Given the description of an element on the screen output the (x, y) to click on. 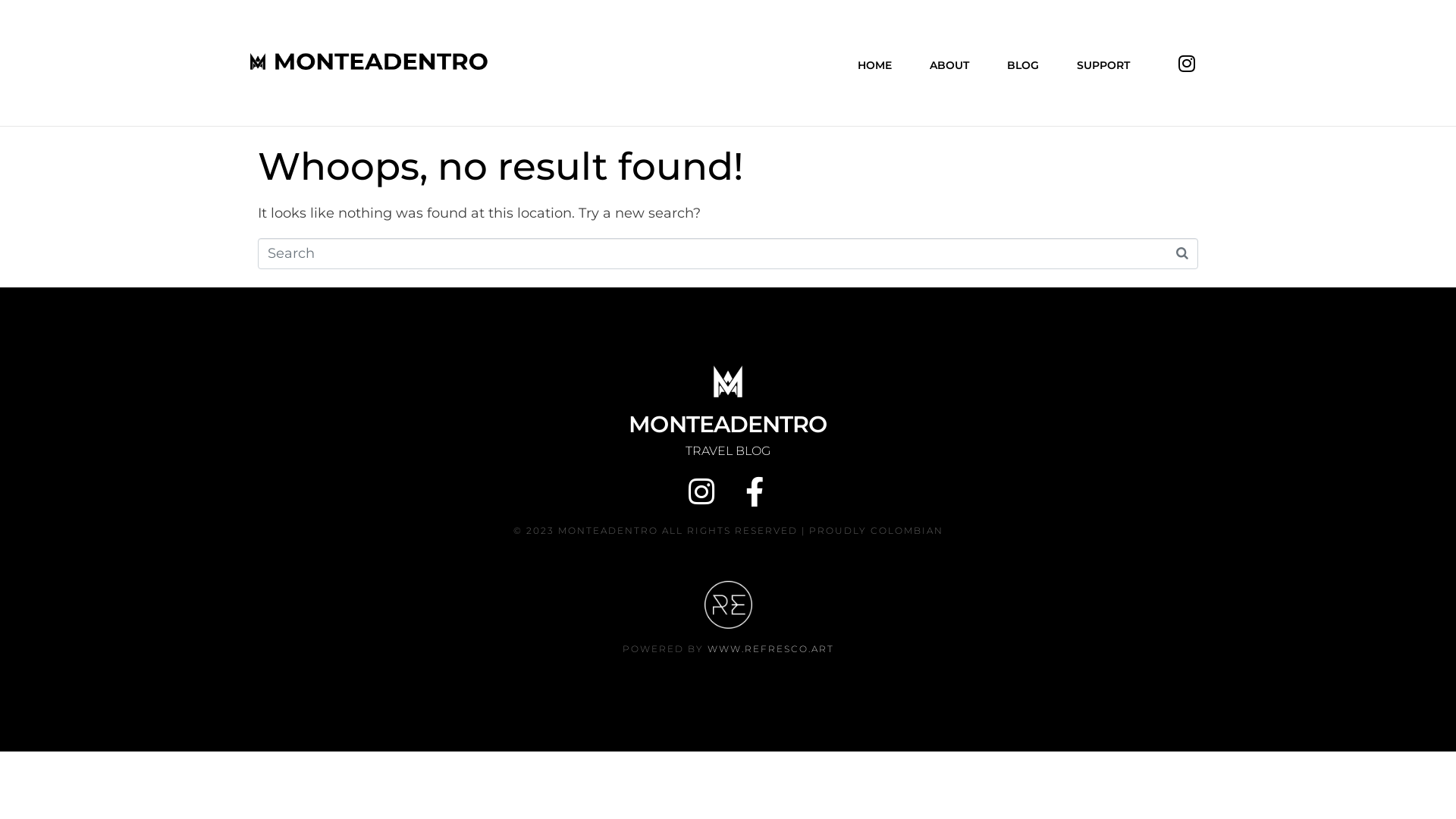
BLOG Element type: text (1022, 62)
HOME Element type: text (874, 62)
ABOUT Element type: text (949, 62)
POWERED BY
 WWW.REFRESCO.ART Element type: text (727, 648)
SUPPORT Element type: text (1102, 62)
